Given the description of an element on the screen output the (x, y) to click on. 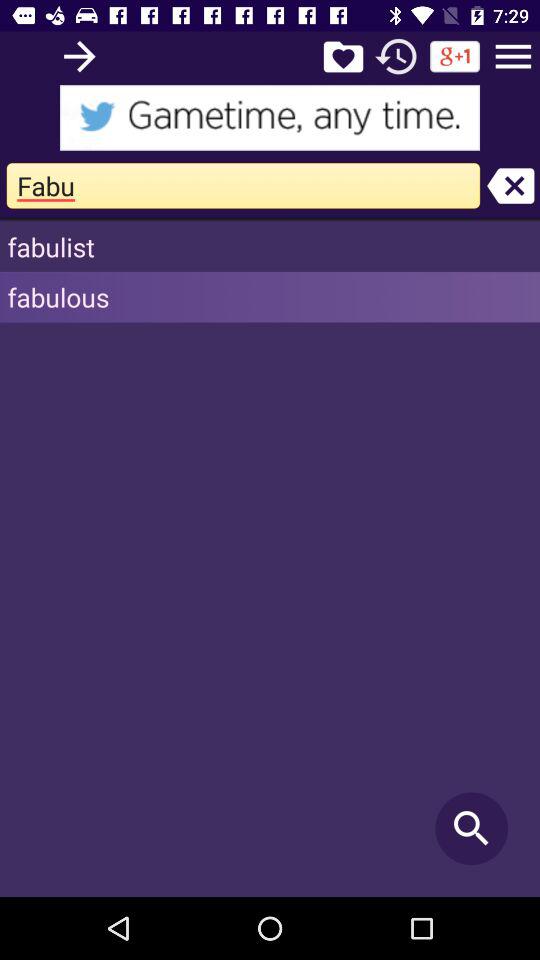
show past searches (396, 56)
